Given the description of an element on the screen output the (x, y) to click on. 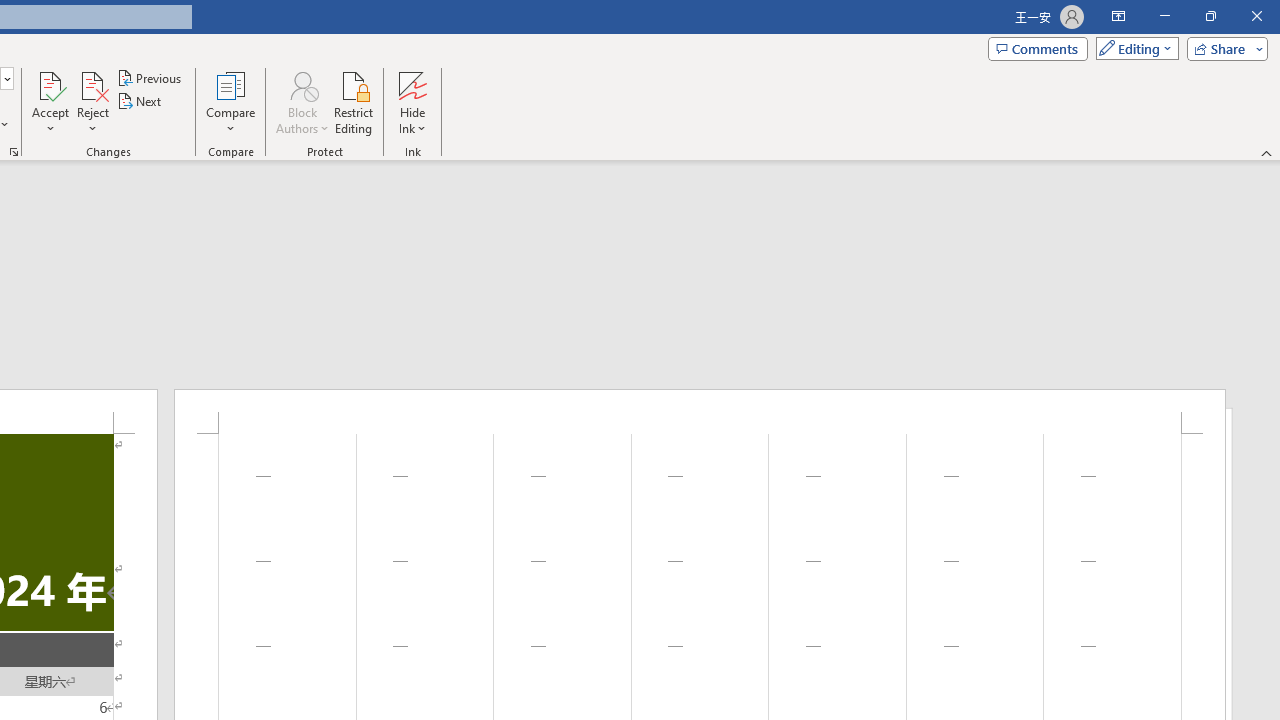
Reject (92, 102)
Previous (150, 78)
Accept (50, 102)
Block Authors (302, 102)
Change Tracking Options... (13, 151)
Hide Ink (412, 84)
Accept and Move to Next (50, 84)
Compare (230, 102)
